Given the description of an element on the screen output the (x, y) to click on. 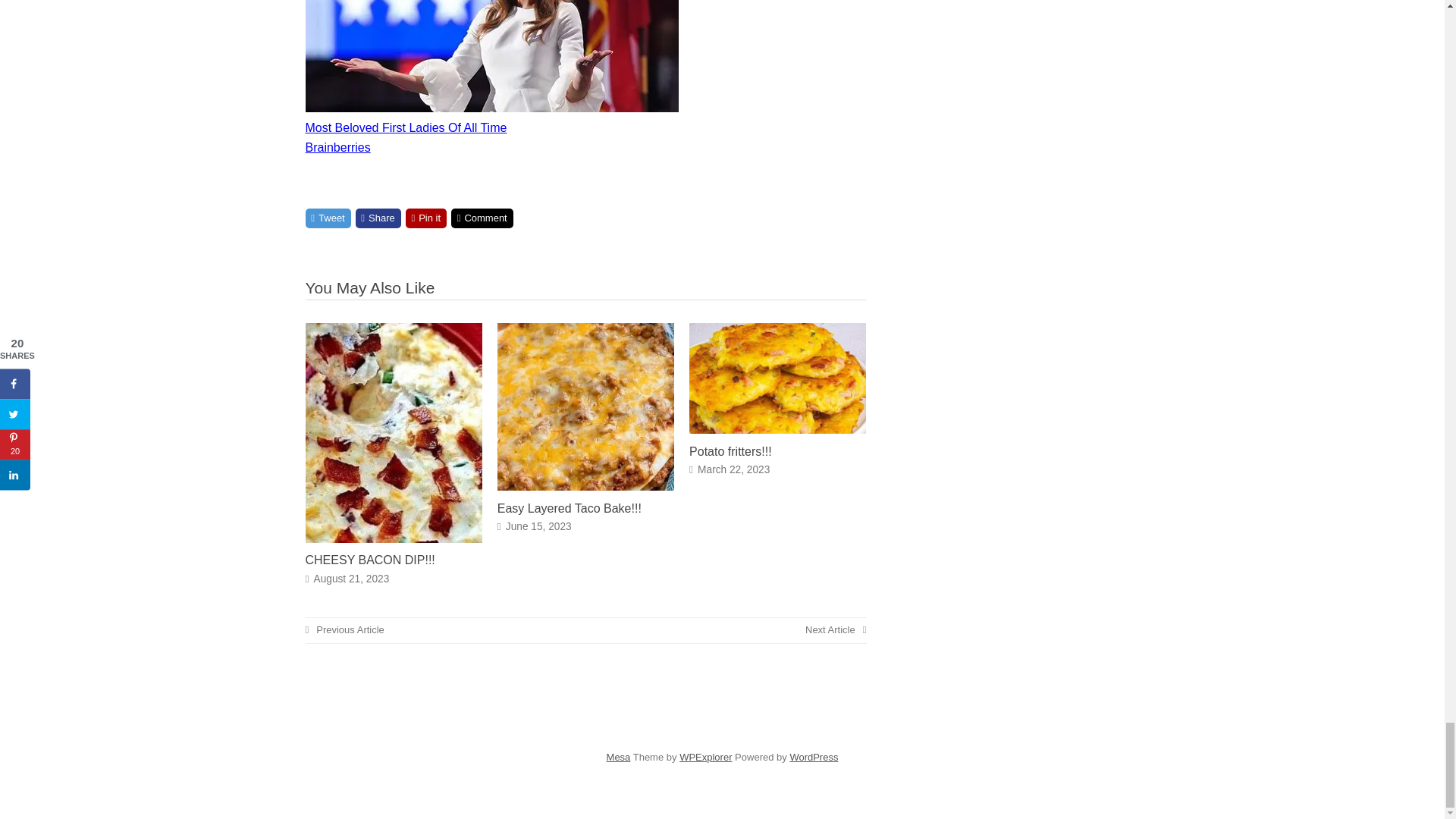
CHEESY BACON DIP!!! (392, 538)
Comment (482, 218)
Share on Facebook (378, 218)
Pin it (426, 218)
Tweet (327, 218)
CHEESY BACON DIP!!! (368, 559)
Comment (482, 218)
Share (378, 218)
Share on Pinterest (426, 218)
Share on Twitter (327, 218)
